Given the description of an element on the screen output the (x, y) to click on. 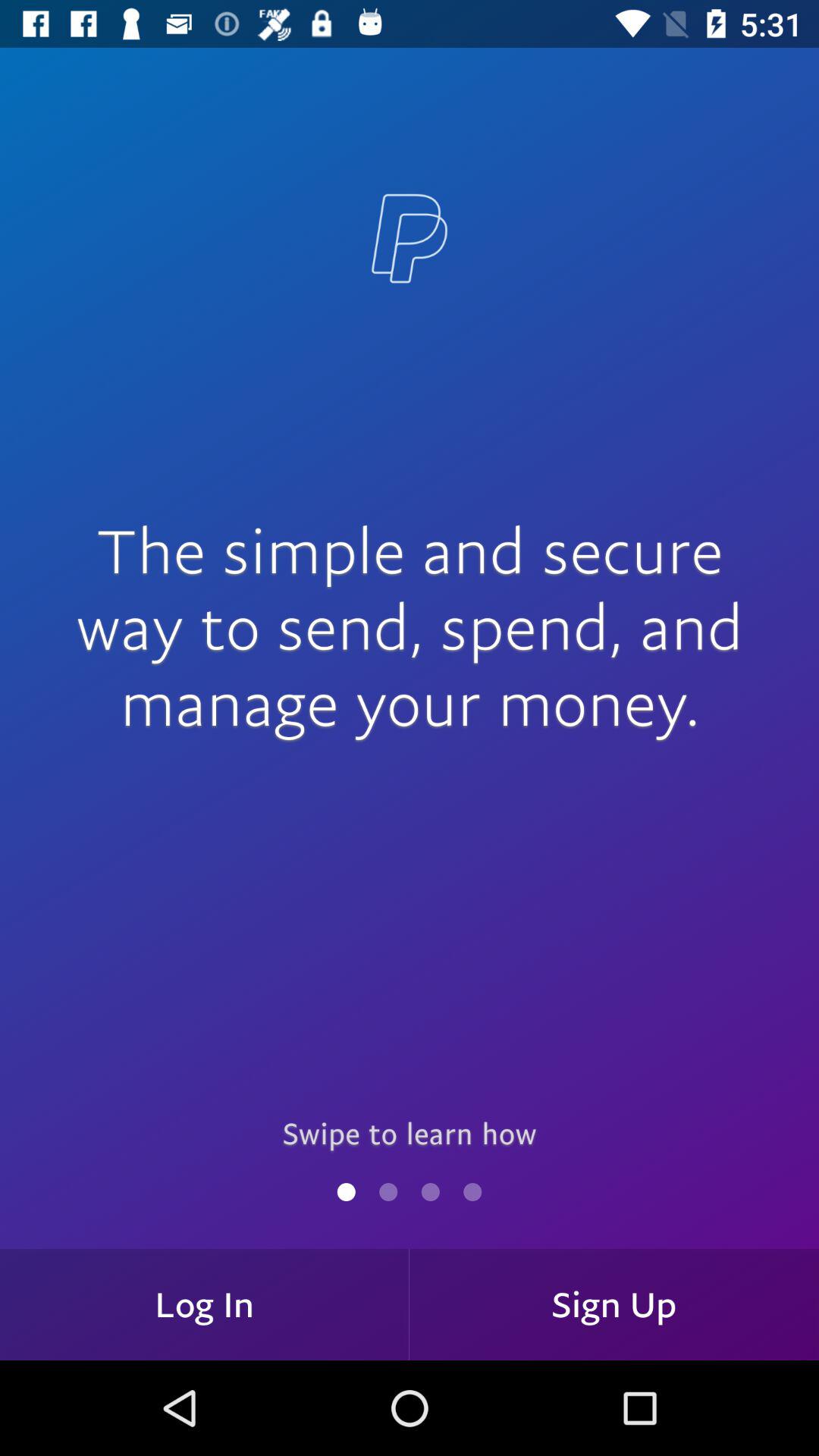
launch sign up at the bottom right corner (614, 1304)
